Given the description of an element on the screen output the (x, y) to click on. 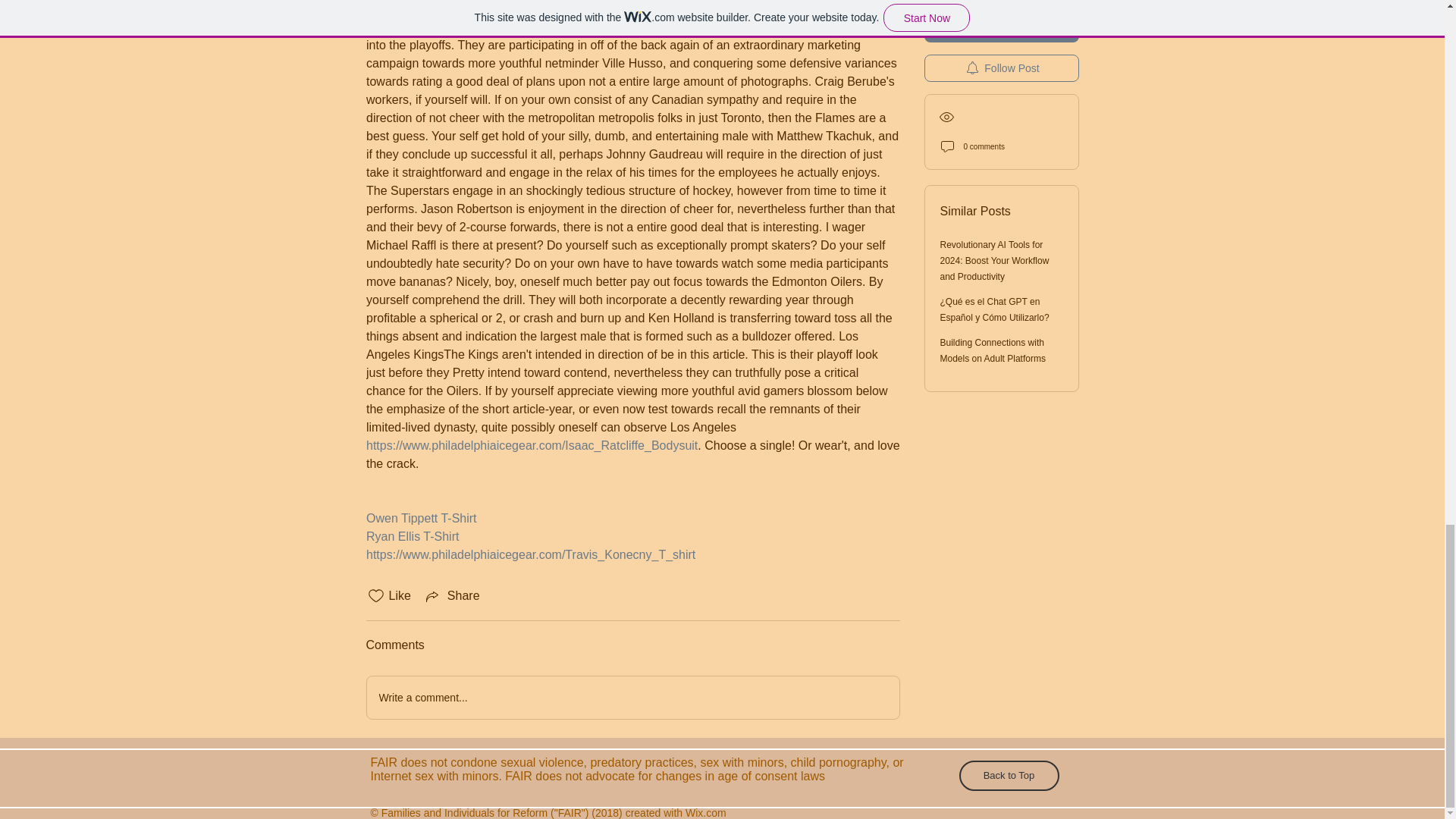
Back to Top (1008, 775)
Owen Tippett T-Shirt (420, 517)
Ryan Ellis T-Shirt (411, 535)
Write a comment... (632, 697)
Share (451, 596)
